Given the description of an element on the screen output the (x, y) to click on. 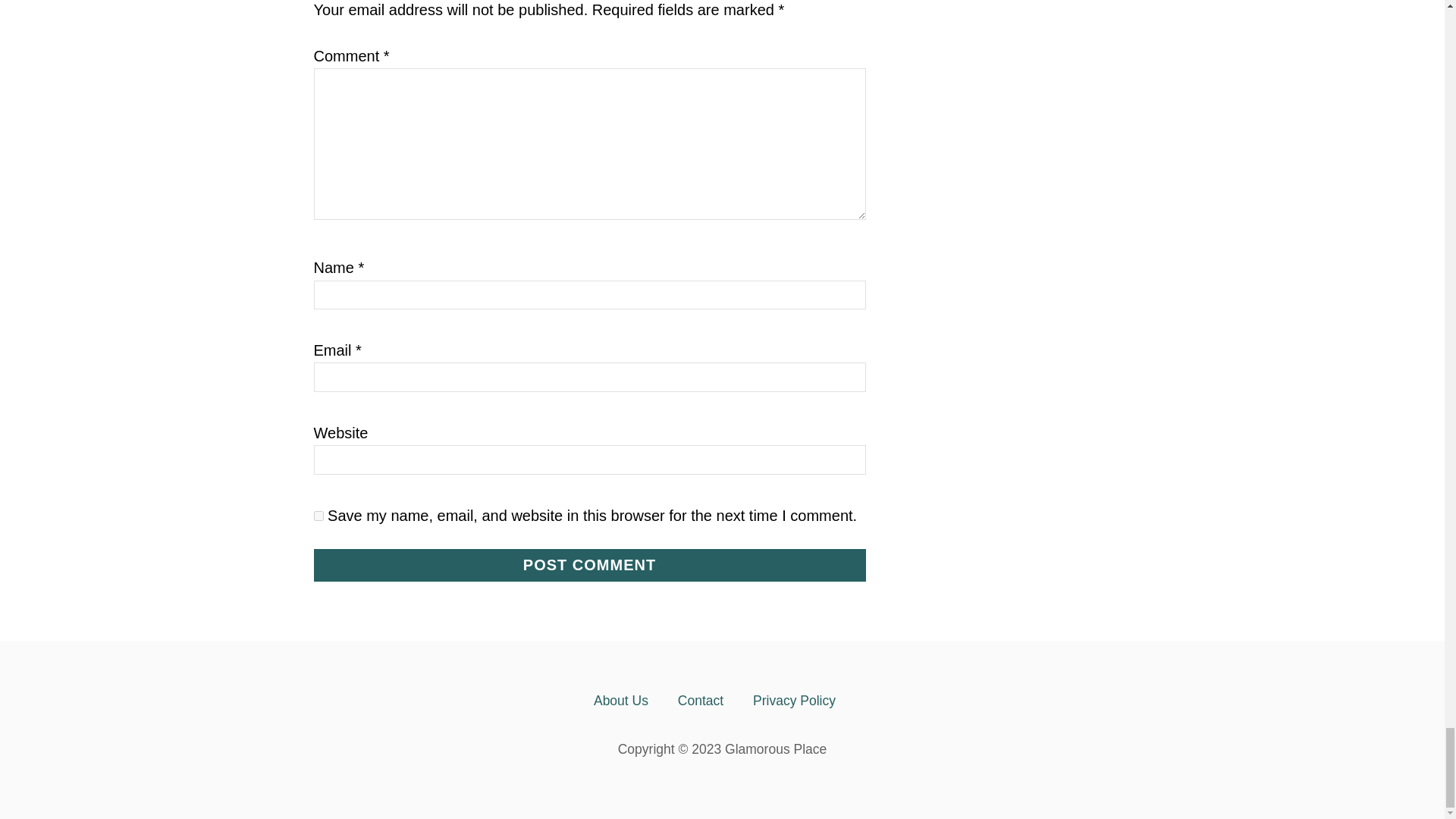
Post Comment (590, 564)
yes (318, 515)
